Given the description of an element on the screen output the (x, y) to click on. 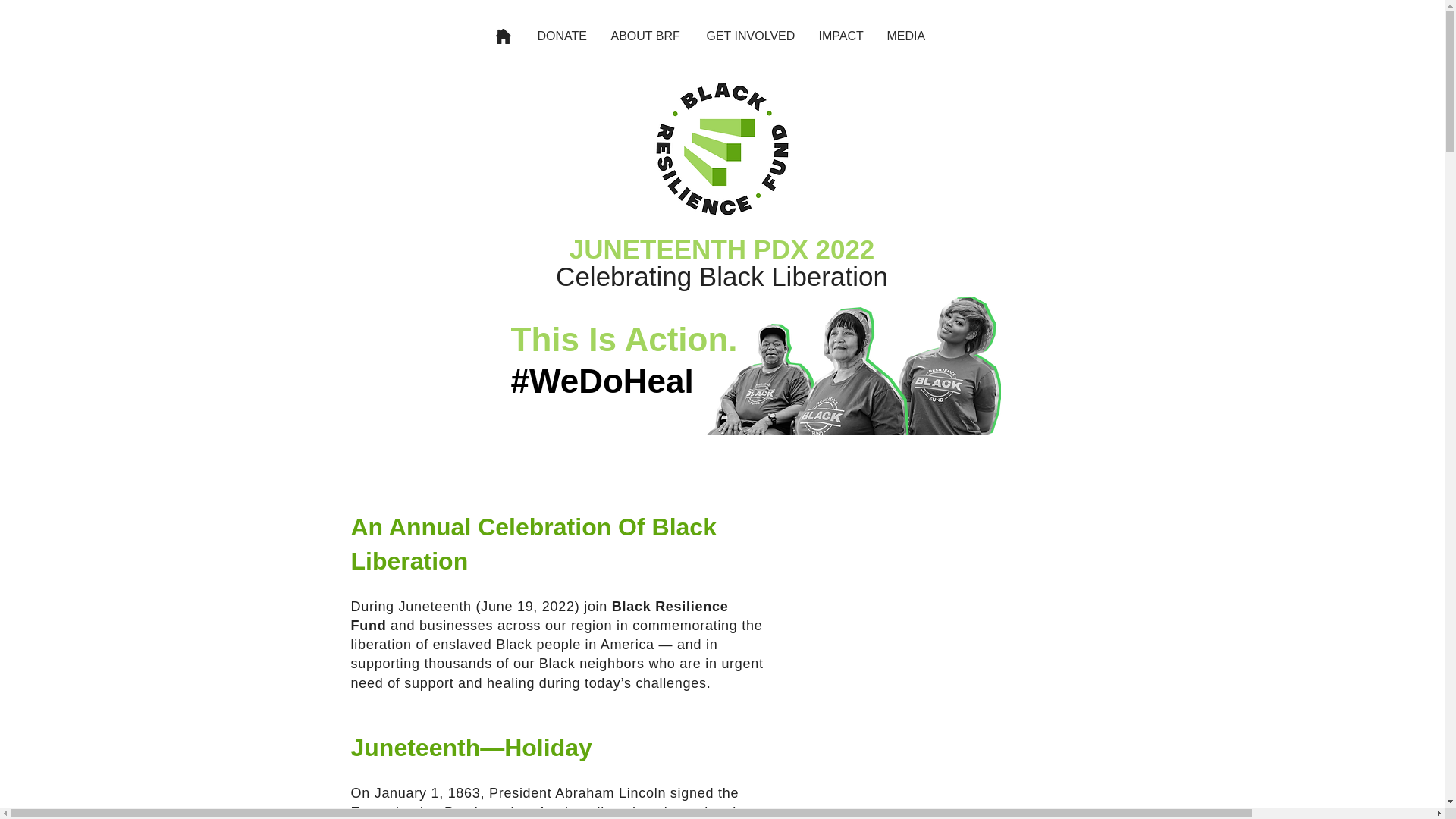
DONATE (562, 35)
Embedded Content (935, 736)
MEDIA (906, 35)
Embedded Content (936, 555)
Home (503, 36)
